Given the description of an element on the screen output the (x, y) to click on. 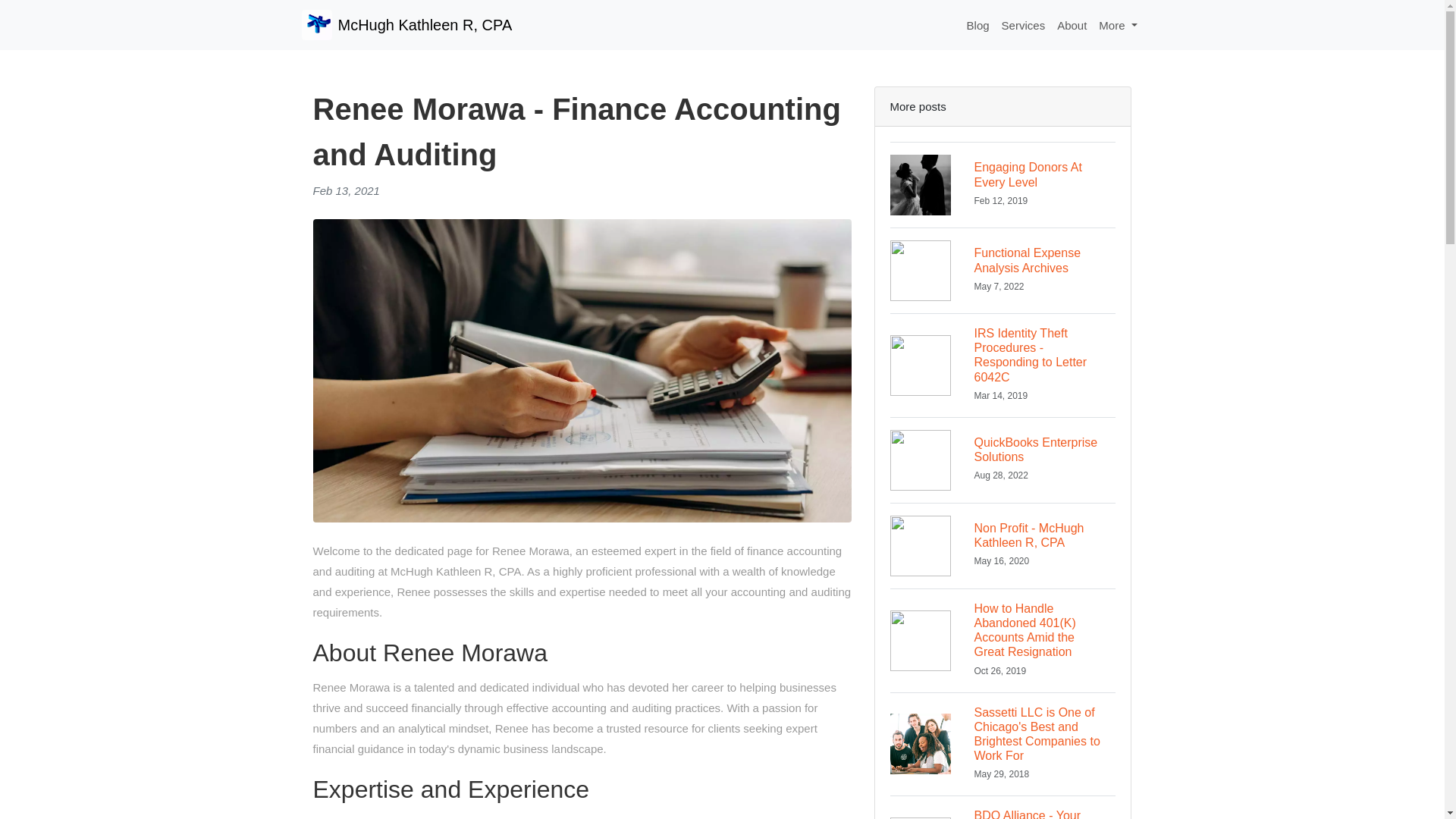
About (1002, 184)
Services (1002, 545)
More (1072, 25)
Blog (1023, 25)
McHugh Kathleen R, CPA (1002, 269)
